Given the description of an element on the screen output the (x, y) to click on. 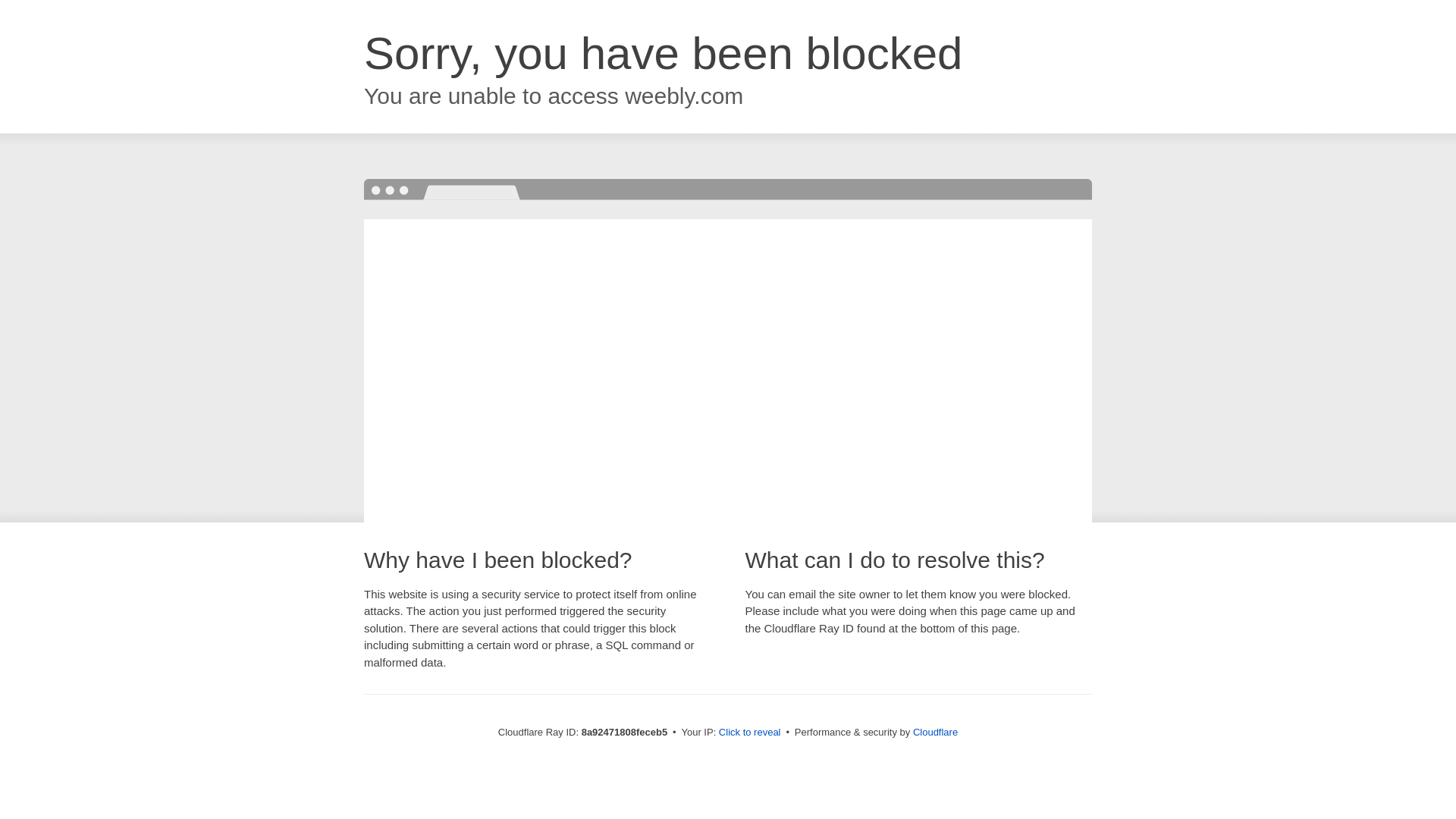
Cloudflare (935, 731)
Click to reveal (749, 732)
